Given the description of an element on the screen output the (x, y) to click on. 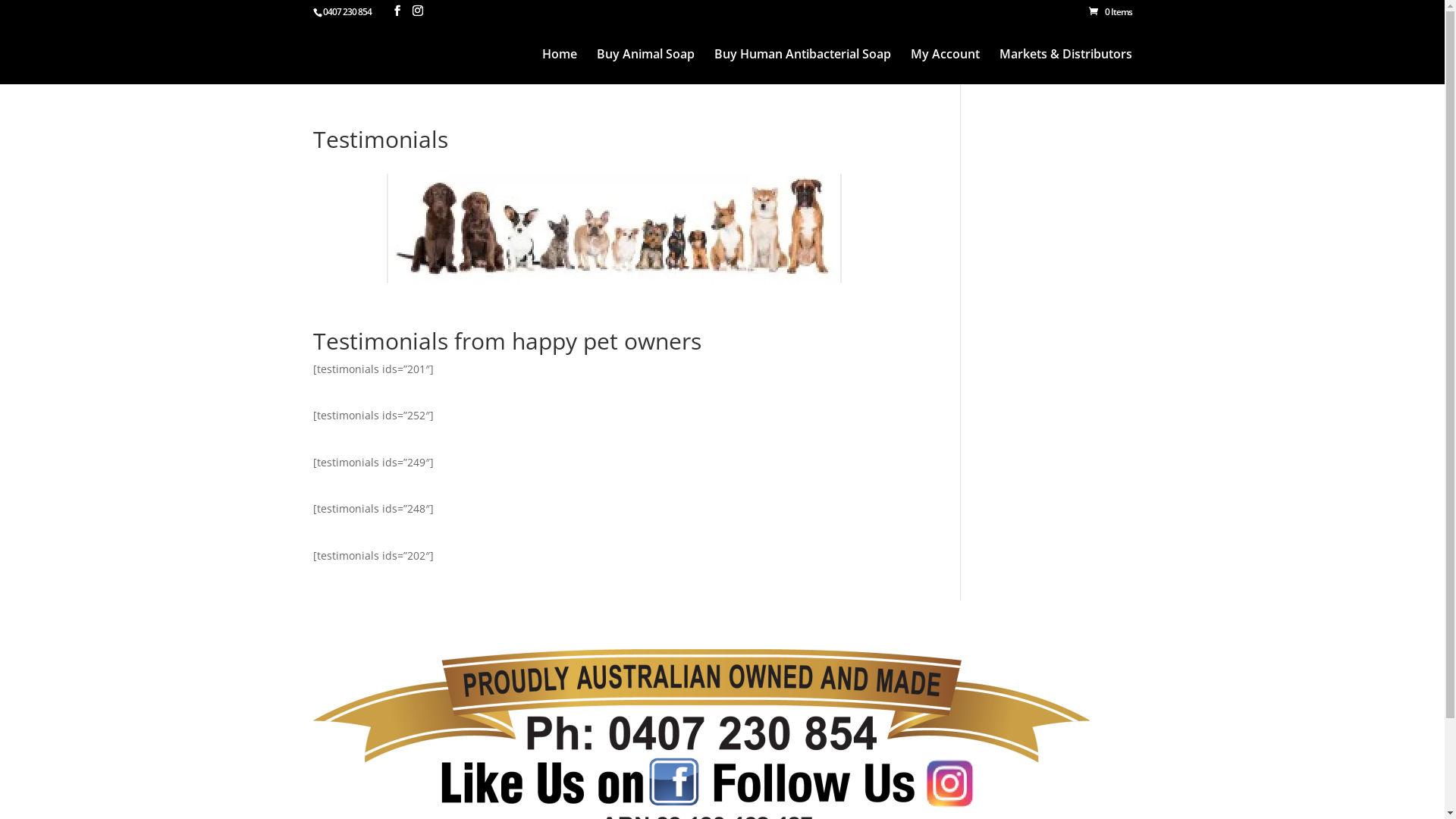
Markets & Distributors Element type: text (1065, 66)
Buy Human Antibacterial Soap Element type: text (802, 66)
0 Items Element type: text (1110, 11)
Home Element type: text (558, 66)
Buy Animal Soap Element type: text (644, 66)
My Account Element type: text (944, 66)
